Given the description of an element on the screen output the (x, y) to click on. 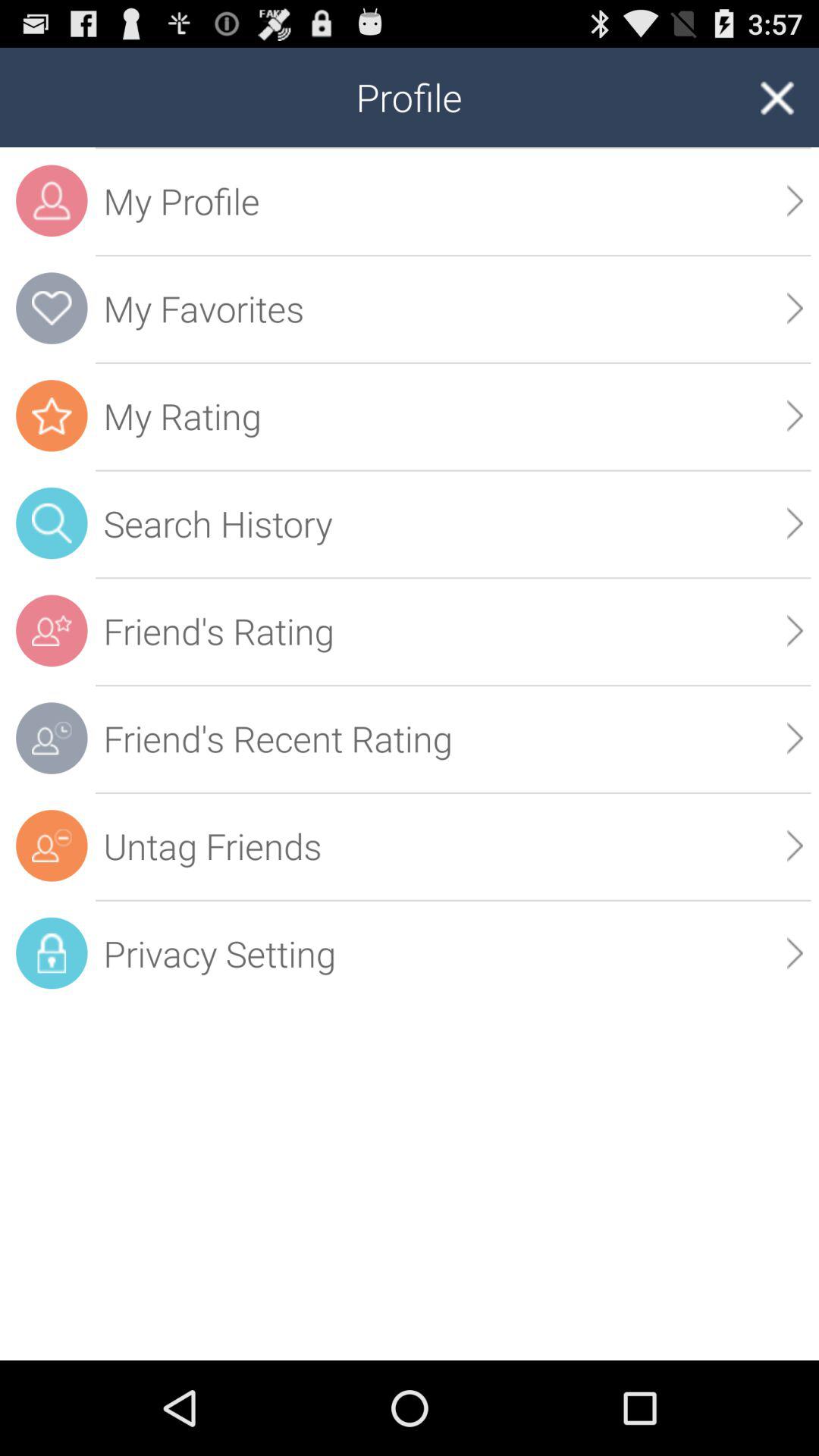
flip to the my profile item (453, 200)
